Given the description of an element on the screen output the (x, y) to click on. 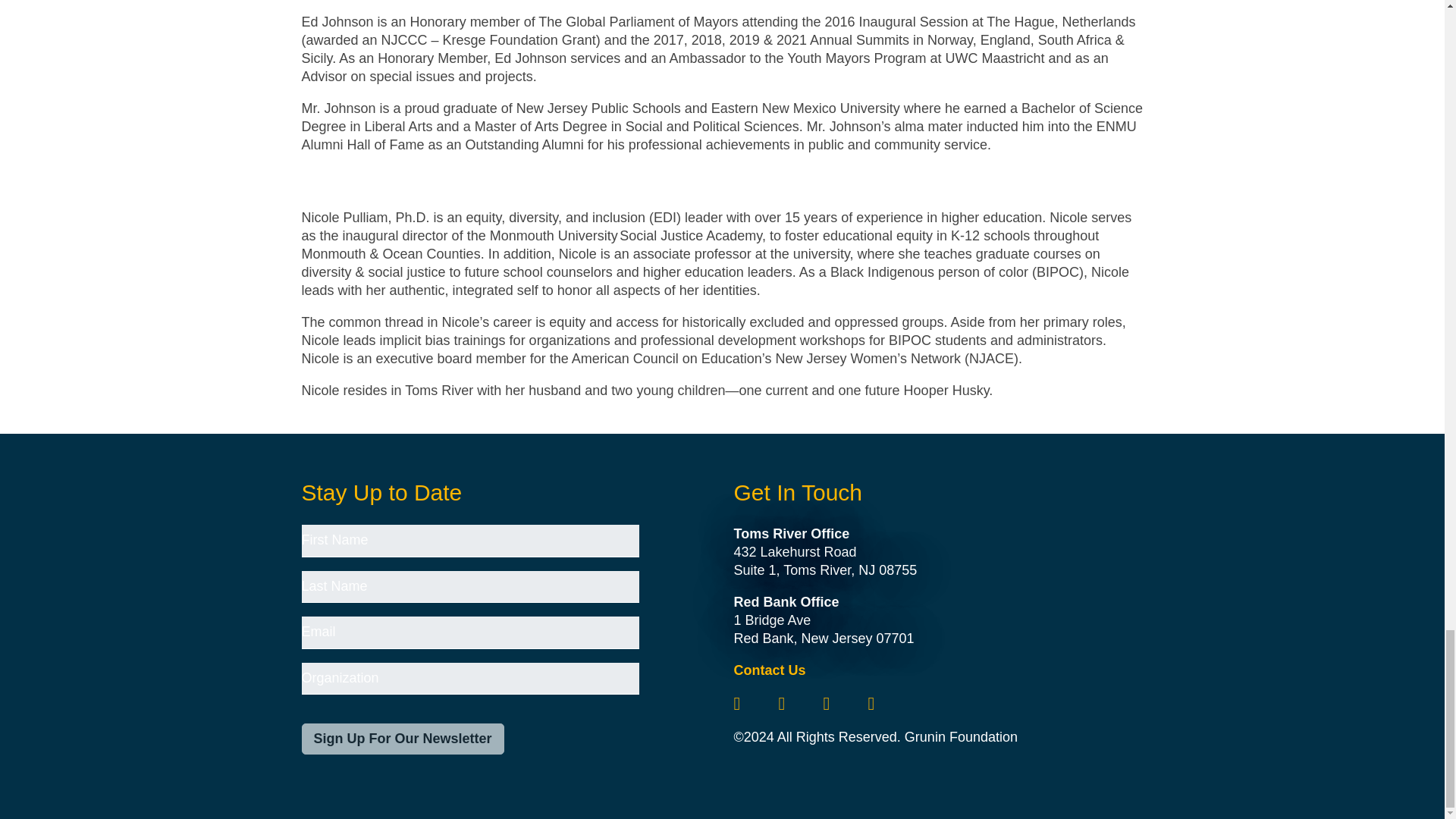
Sign Up For Our Newsletter (402, 738)
Contact Us (769, 670)
